Given the description of an element on the screen output the (x, y) to click on. 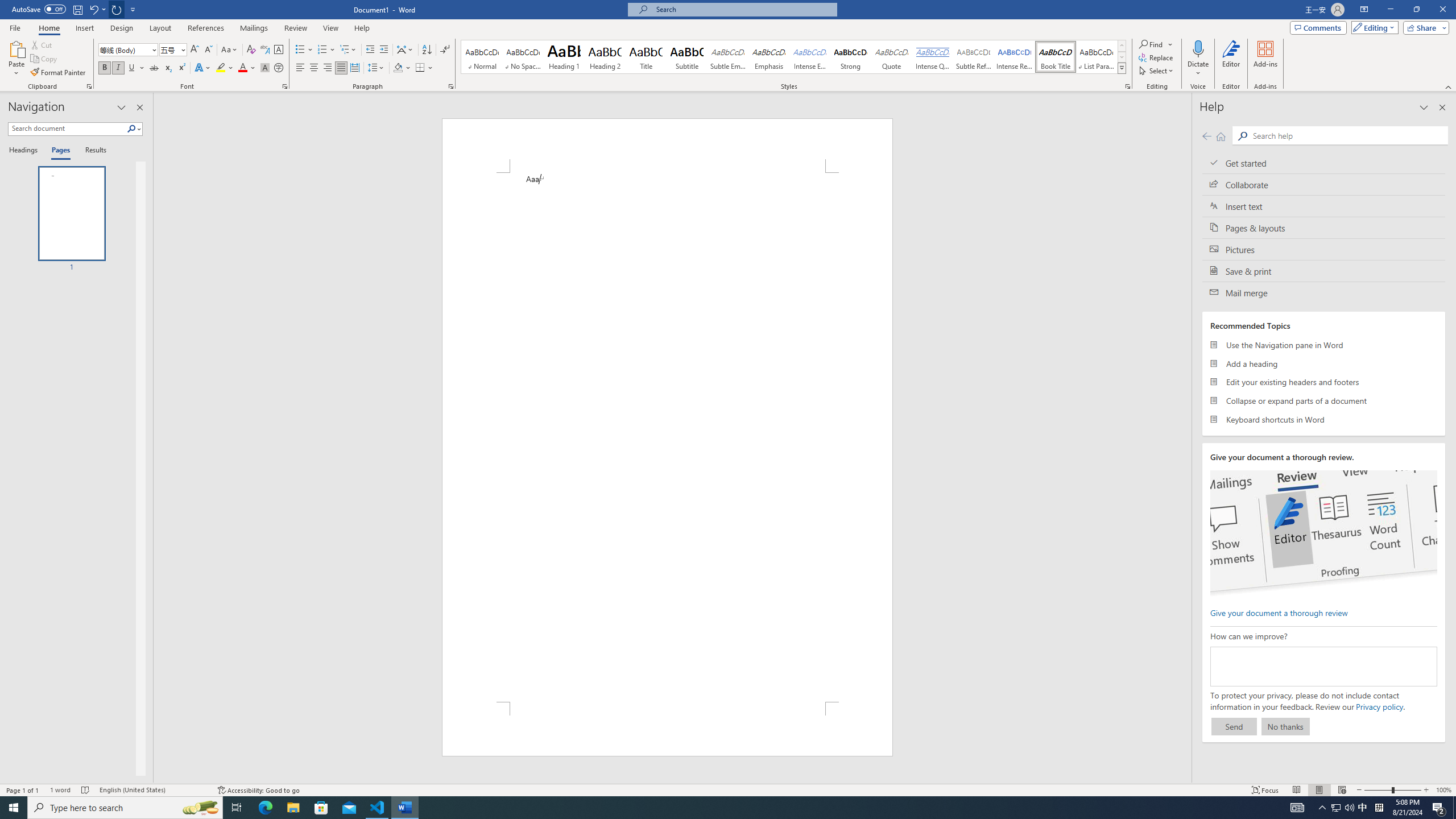
Find (1155, 44)
Zoom In (1426, 790)
Edit your existing headers and footers (1323, 381)
Underline (136, 67)
Font (128, 49)
Office Clipboard... (88, 85)
Decrease Indent (370, 49)
Italic (118, 67)
Increase Indent (383, 49)
AutomationID: QuickStylesGallery (794, 56)
Previous page (1206, 136)
Read Mode (1296, 790)
Styles... (1127, 85)
